Given the description of an element on the screen output the (x, y) to click on. 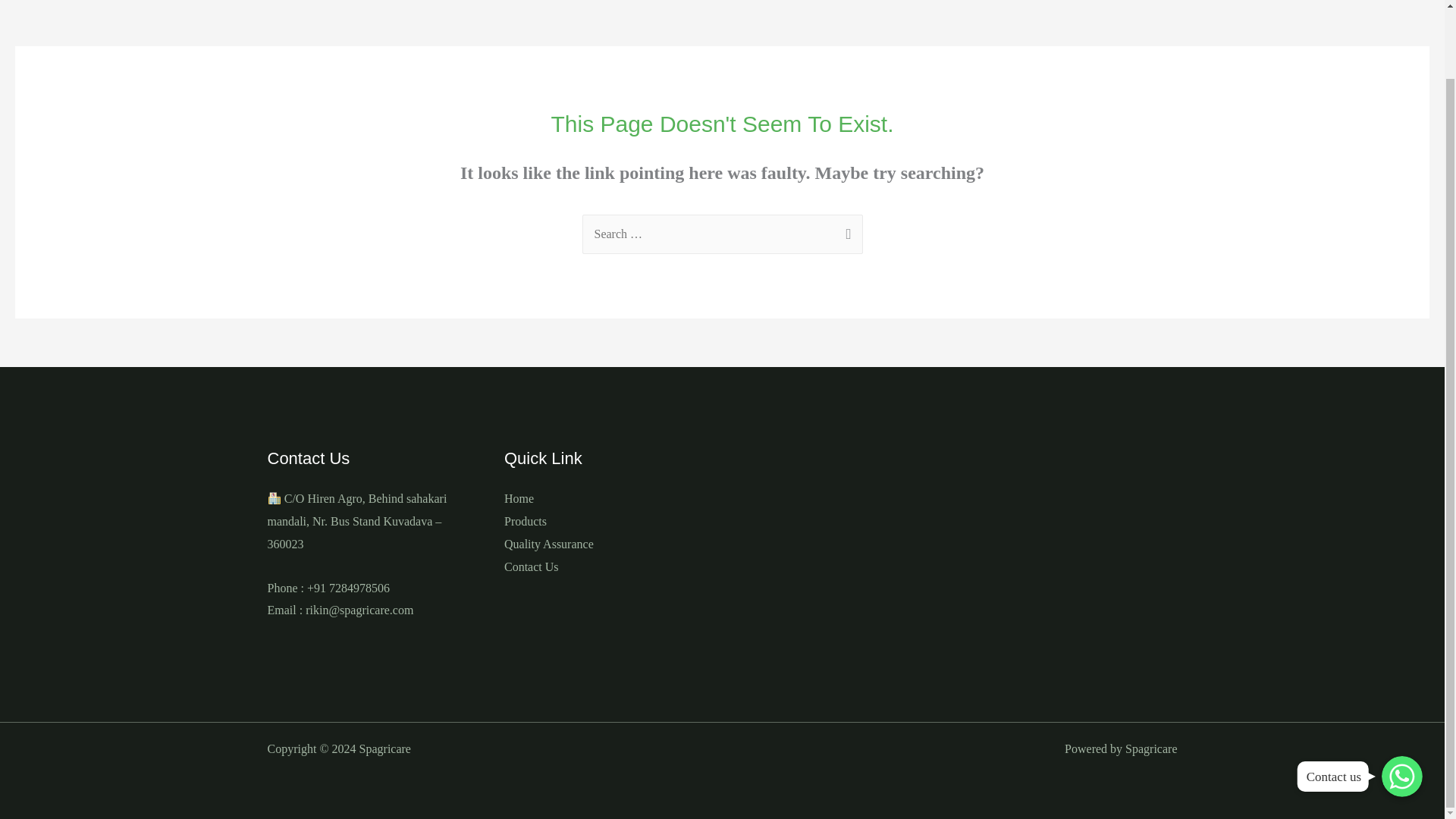
Products (525, 521)
Contact Us (531, 566)
WhatsApp (1401, 700)
Quality Assurance (548, 543)
Home (518, 498)
